Given the description of an element on the screen output the (x, y) to click on. 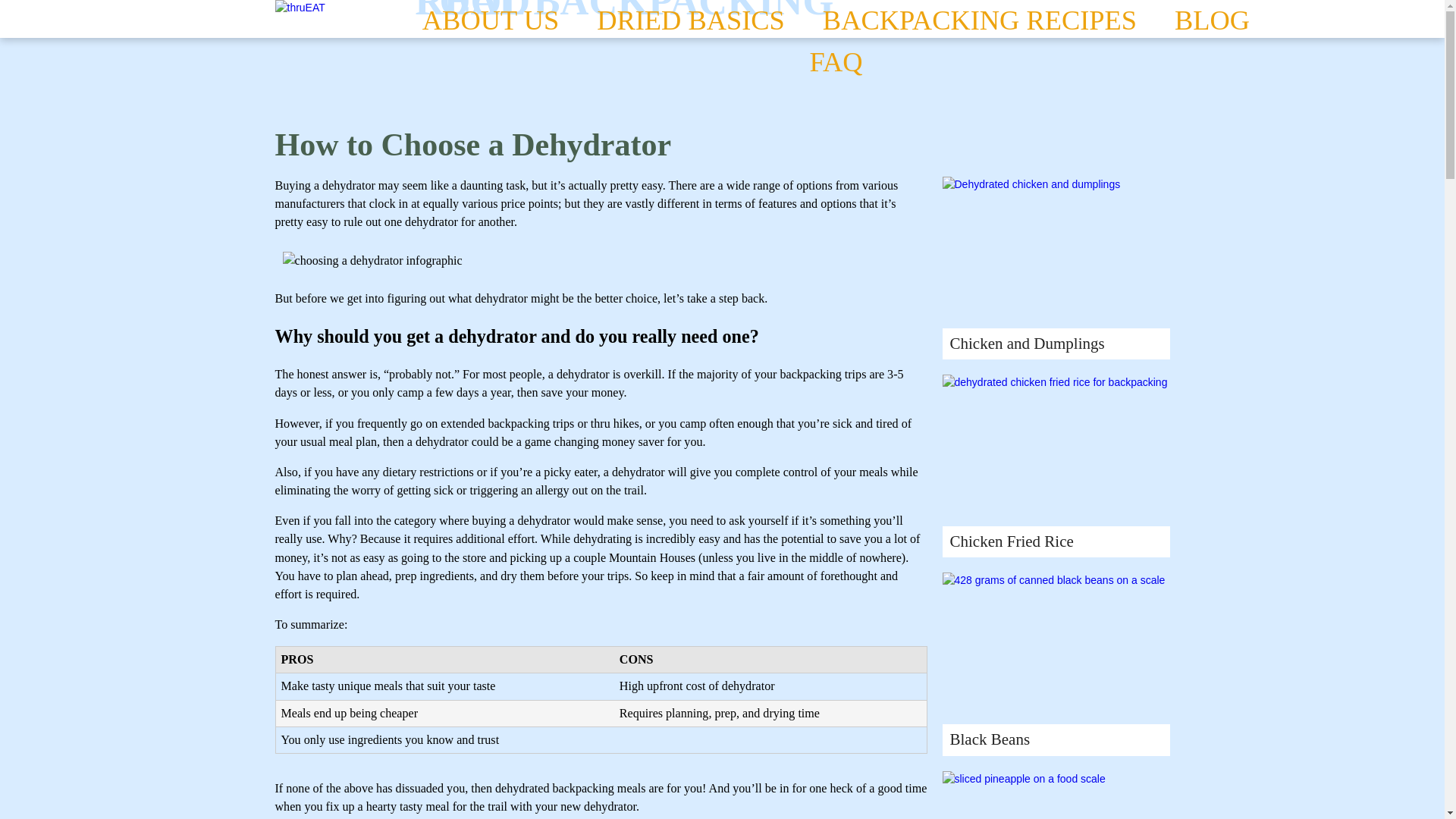
Chicken and Dumplings (1026, 343)
ABOUT US (490, 20)
Chicken Fried Rice (1011, 541)
Enjoy 'homemade' chicken and dumplings even while camping  (1055, 252)
Easy backpacking protein boost (1055, 647)
DRIED BASICS (690, 20)
FAQ (835, 62)
BLOG (1212, 20)
thruEAT (434, 14)
Home page (434, 14)
Black Beans (989, 739)
BACKPACKING RECIPES (979, 20)
